Given the description of an element on the screen output the (x, y) to click on. 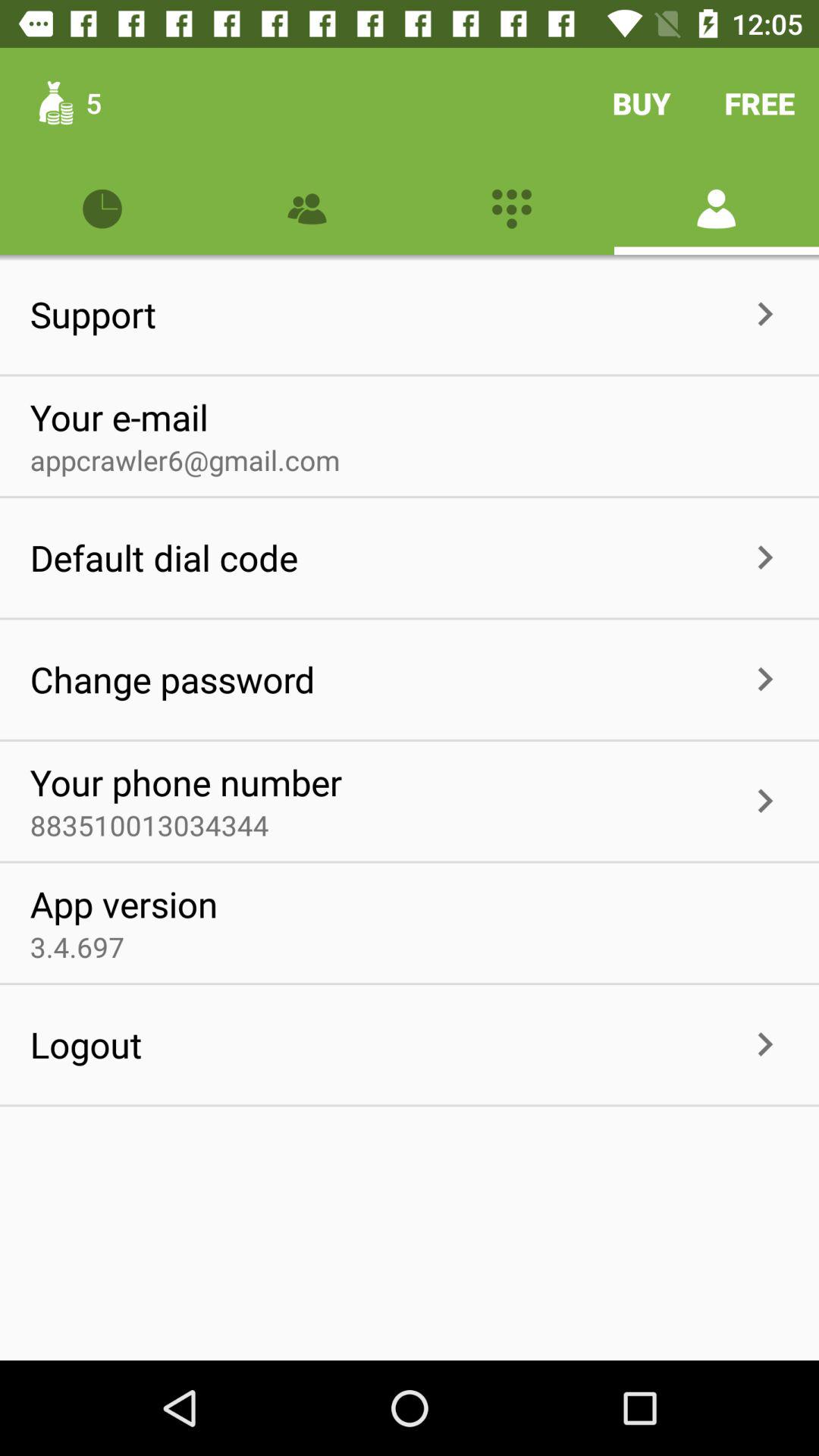
choose item next to the buy (759, 103)
